Given the description of an element on the screen output the (x, y) to click on. 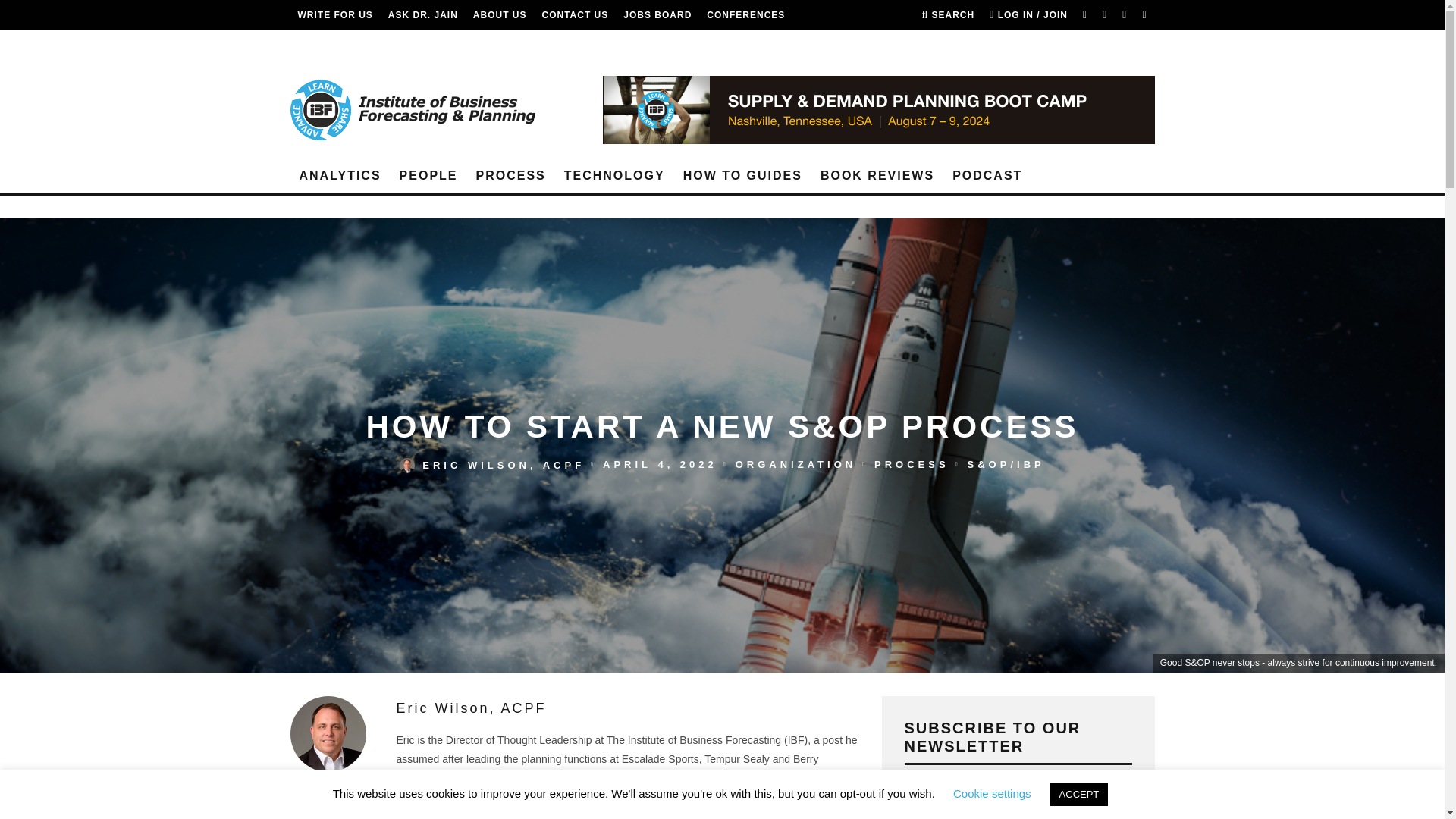
Log In (721, 435)
IBF PODCAST (331, 45)
View all posts in Organization (795, 464)
PROCESS (510, 175)
TERMS AND CONDITIONS (447, 45)
ANALYTICS (339, 175)
Search (947, 15)
WRITE FOR US (334, 15)
ASK DR. JAIN (423, 15)
ABOUT US (500, 15)
PEOPLE (428, 175)
JOBS BOARD (657, 15)
CONFERENCES (745, 15)
View all posts in Process (912, 464)
CONTACT US (574, 15)
